Given the description of an element on the screen output the (x, y) to click on. 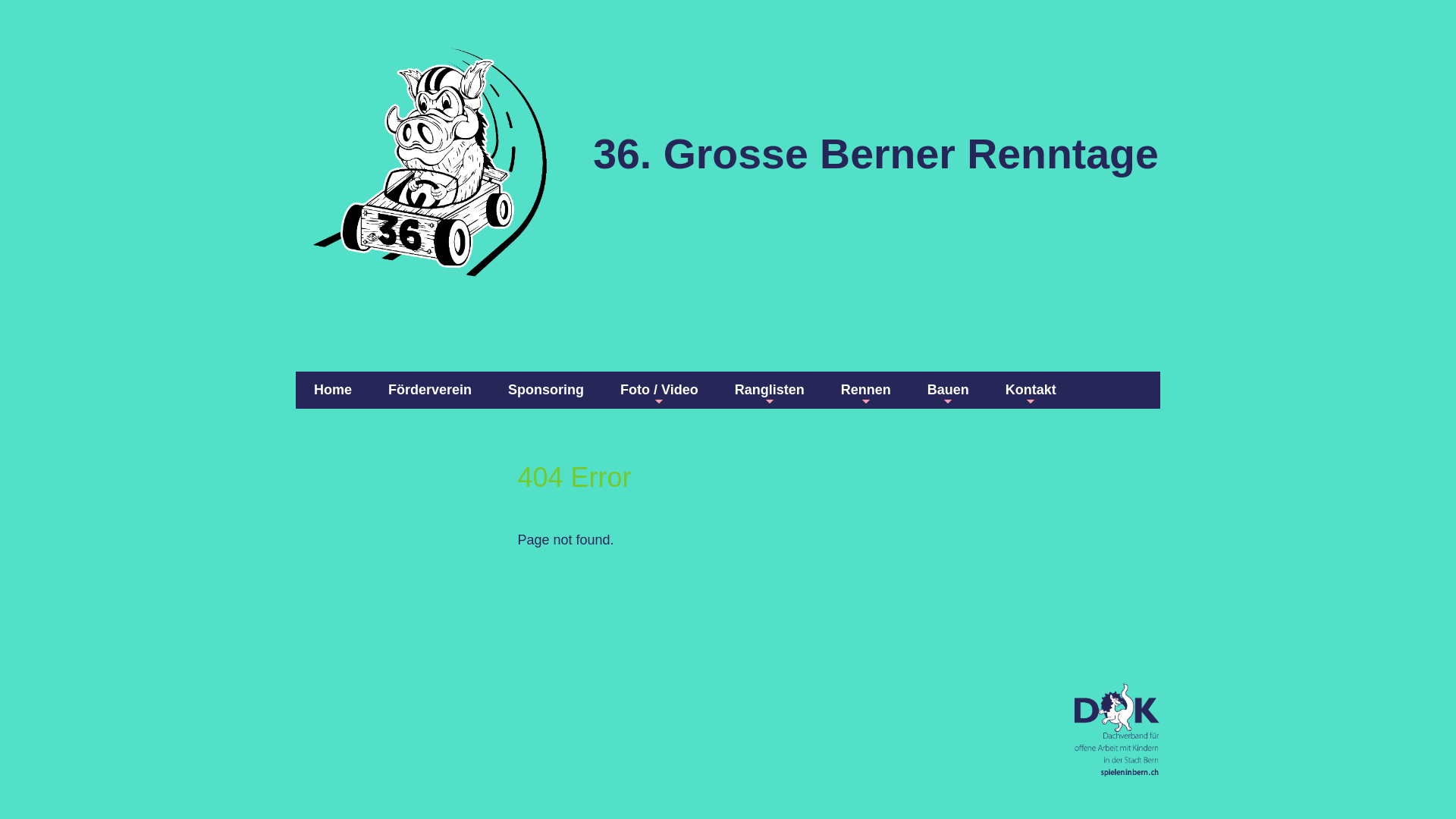
Bauen Element type: text (948, 389)
Rennen Element type: text (865, 389)
Sponsoring Element type: text (545, 389)
Home Element type: text (332, 389)
Ranglisten Element type: text (769, 389)
Kontakt Element type: text (1030, 389)
Foto / Video Element type: text (659, 389)
